Given the description of an element on the screen output the (x, y) to click on. 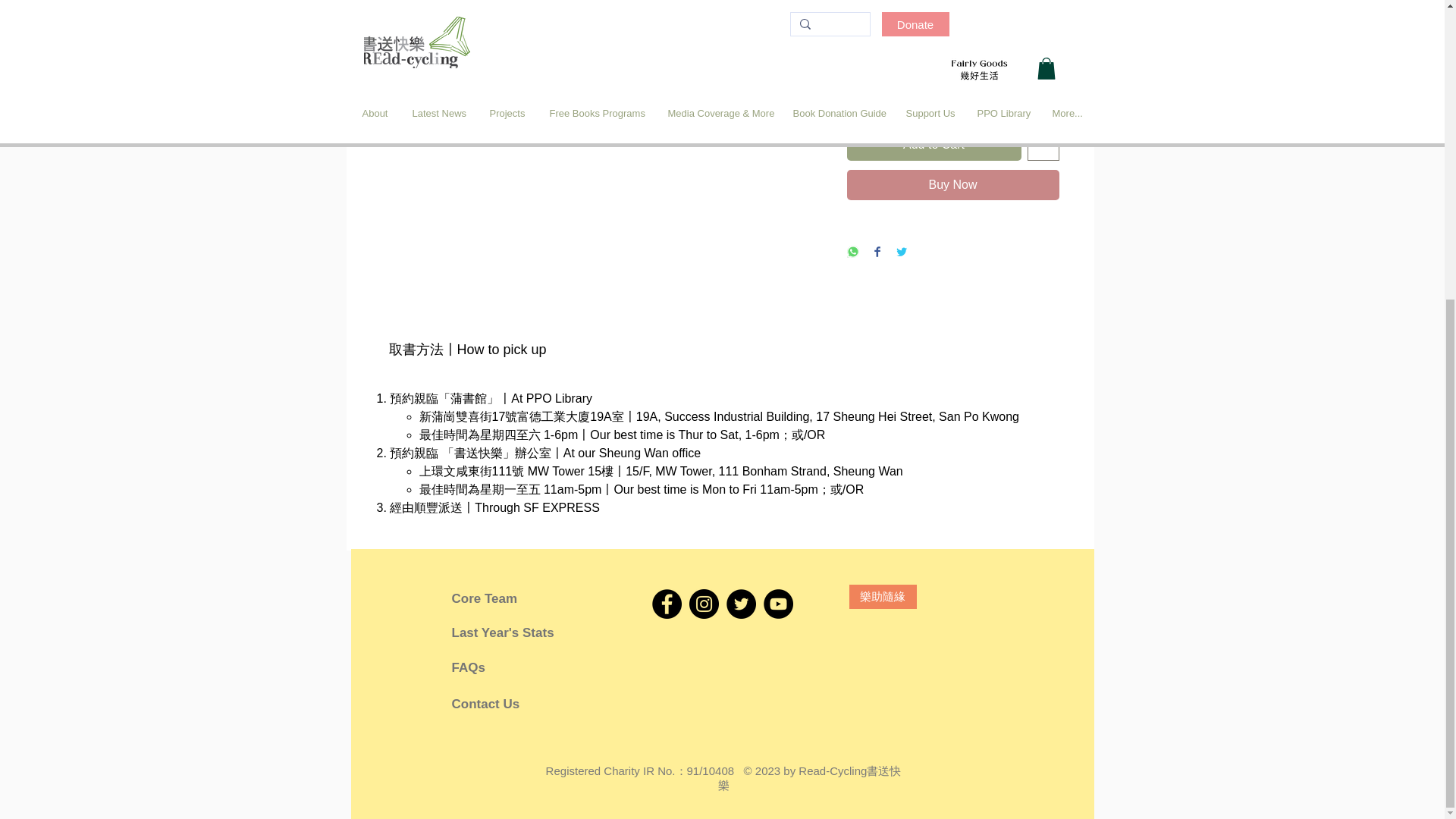
Use right and left arrows to navigate between tabs (466, 350)
Add to Cart (932, 144)
Core Team (497, 598)
Buy Now (951, 184)
